Given the description of an element on the screen output the (x, y) to click on. 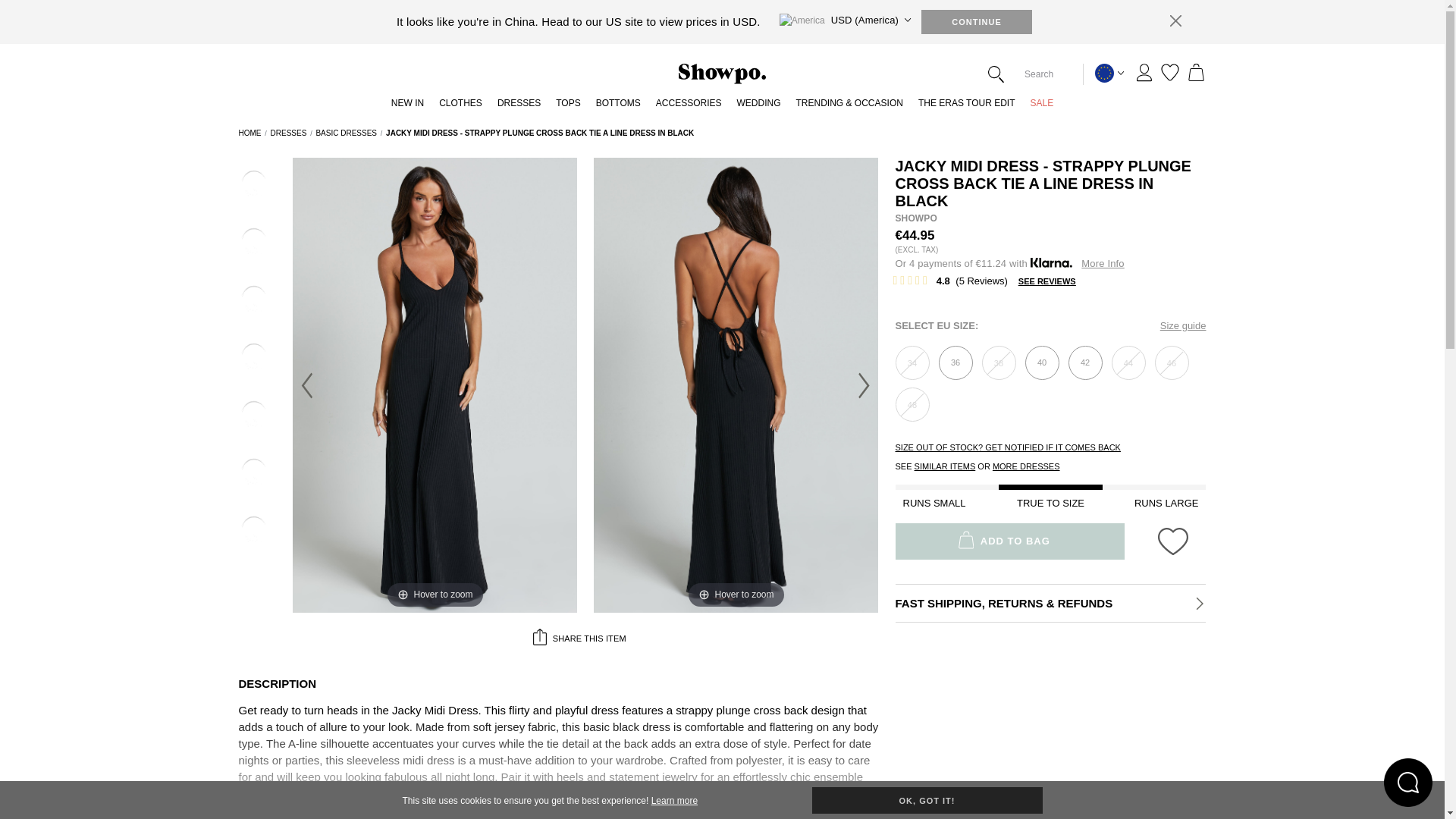
NEW IN (407, 107)
CONTINUE (976, 21)
Klarna (1009, 263)
Add to bag (1084, 362)
Add to bag (1042, 362)
Add to bag (955, 362)
